Given the description of an element on the screen output the (x, y) to click on. 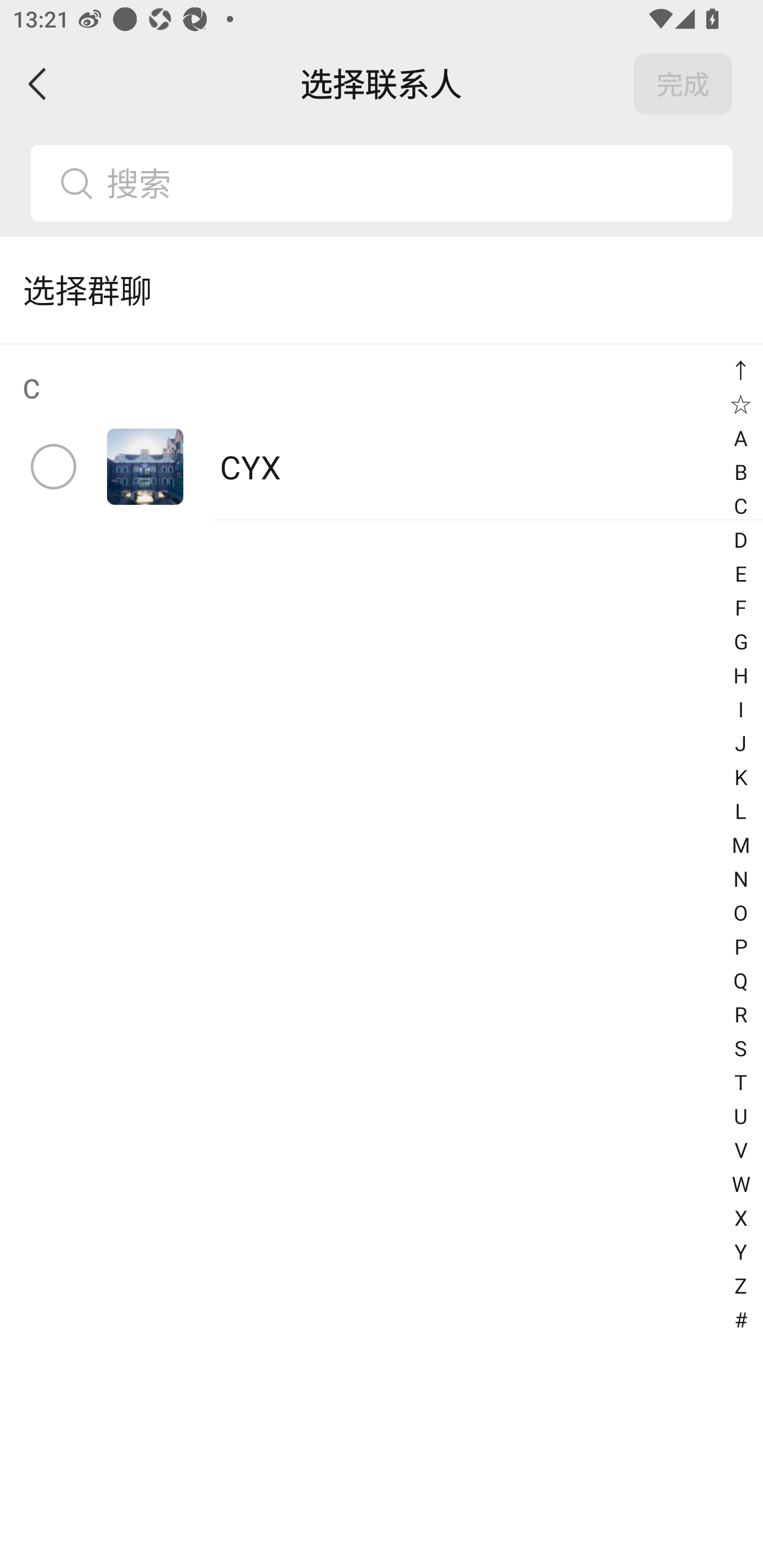
返回 (38, 83)
完成 (683, 83)
搜索 (381, 183)
搜索 (411, 183)
选择群聊 (381, 290)
C CYX (381, 432)
